Given the description of an element on the screen output the (x, y) to click on. 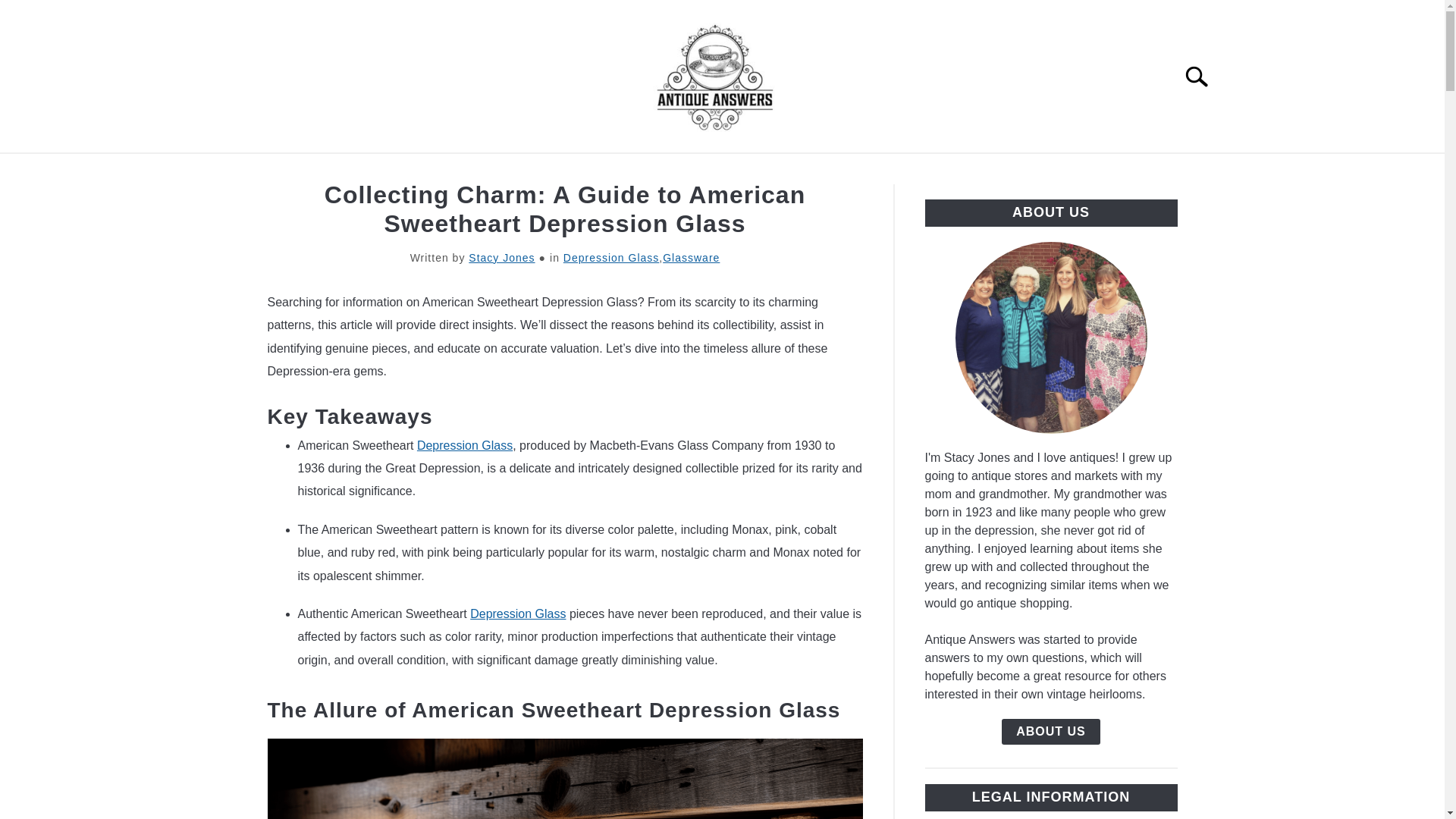
Search (1203, 76)
Depression Glass (518, 613)
Depression Glass (464, 445)
GRANDFATHER CLOCKS (873, 171)
Stacy Jones (501, 257)
Glassware (690, 257)
GLASSWARE (439, 171)
Depression Glass (611, 257)
CHINA, PORCELAIN, AND CERAMICS (638, 171)
VARIOUS (1017, 171)
